Given the description of an element on the screen output the (x, y) to click on. 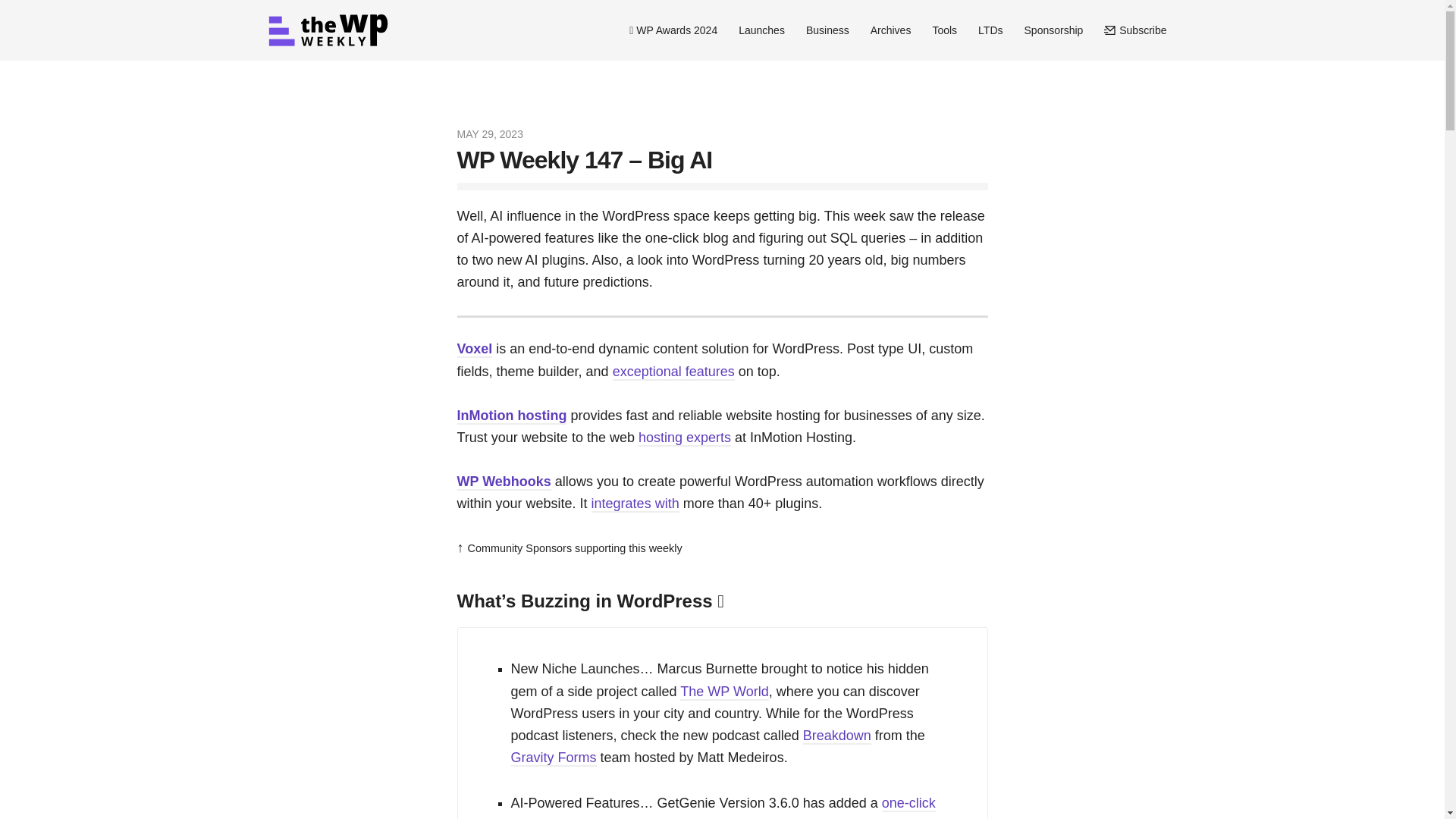
Breakdown (836, 736)
one-click blog feature (723, 807)
Archives (890, 30)
exceptional features (673, 371)
integrates with (635, 504)
WP Webhooks (503, 482)
Sponsorship (1053, 30)
hosting experts (684, 437)
Launches (761, 30)
Business (827, 30)
